Given the description of an element on the screen output the (x, y) to click on. 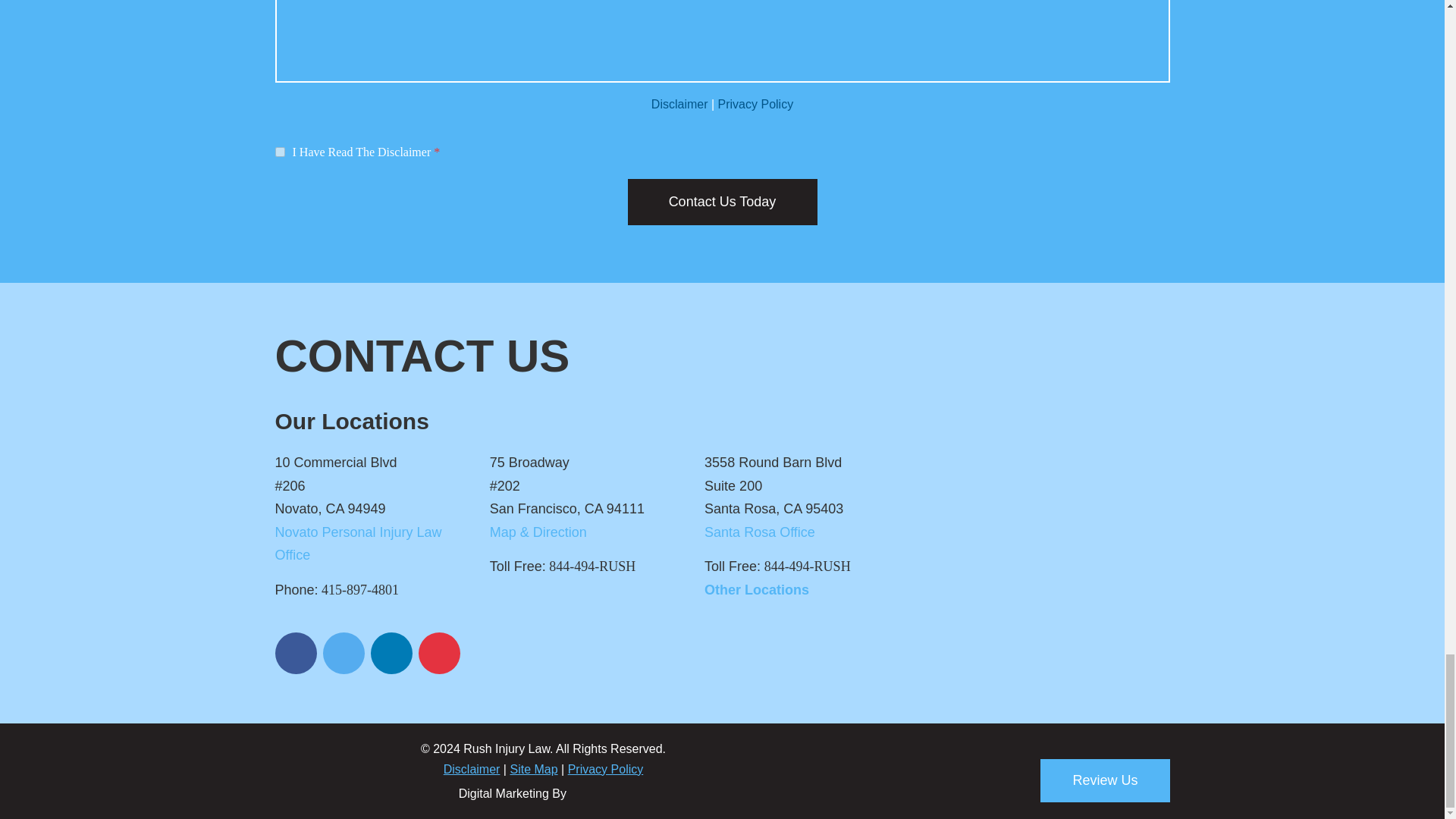
Follow on Facebook (295, 653)
Follow on Twitter (344, 653)
Contact Us Today (721, 202)
Follow on LinkedIn (390, 653)
